Given the description of an element on the screen output the (x, y) to click on. 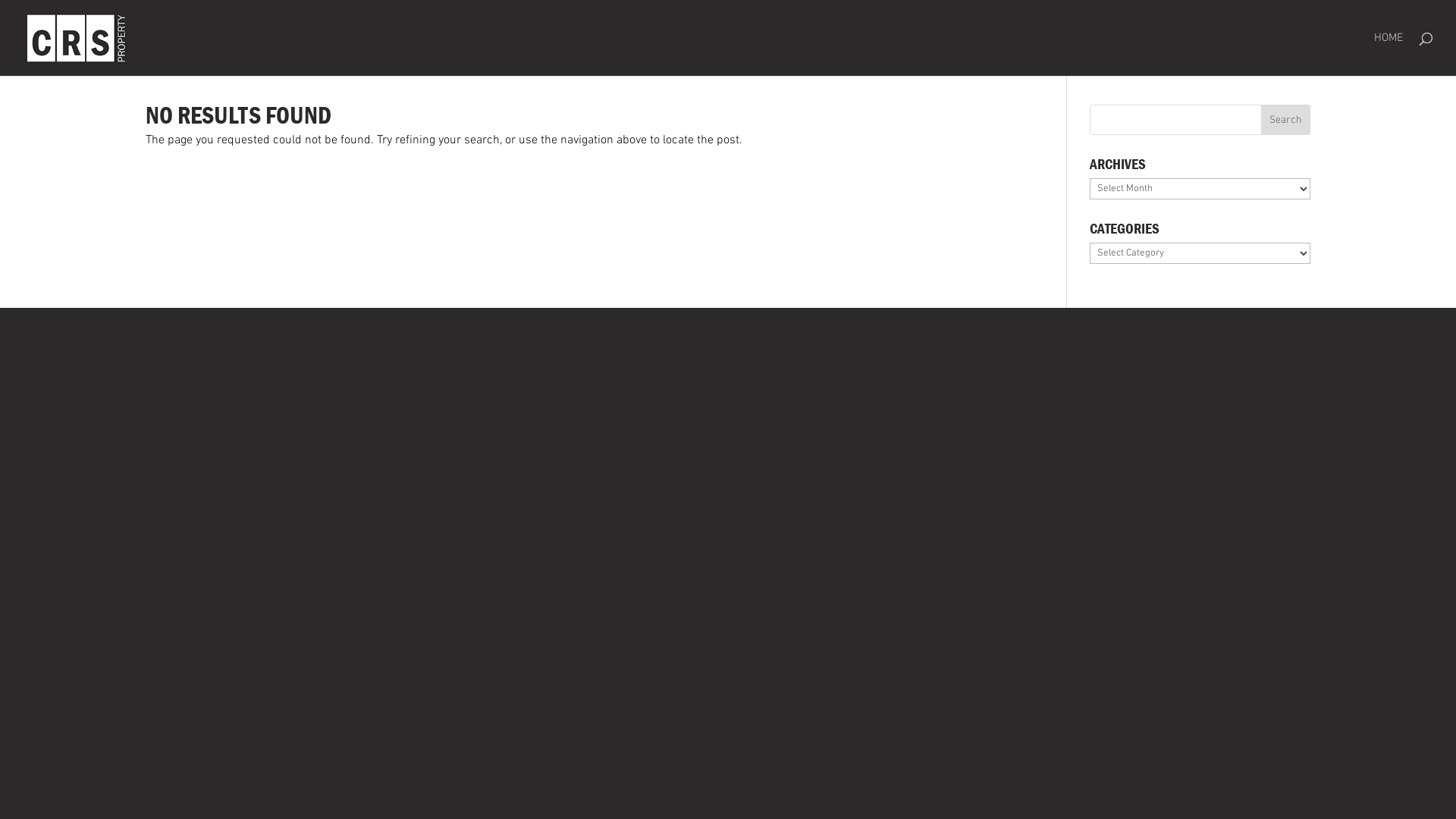
Search Element type: text (1285, 119)
HOME Element type: text (1388, 53)
